Given the description of an element on the screen output the (x, y) to click on. 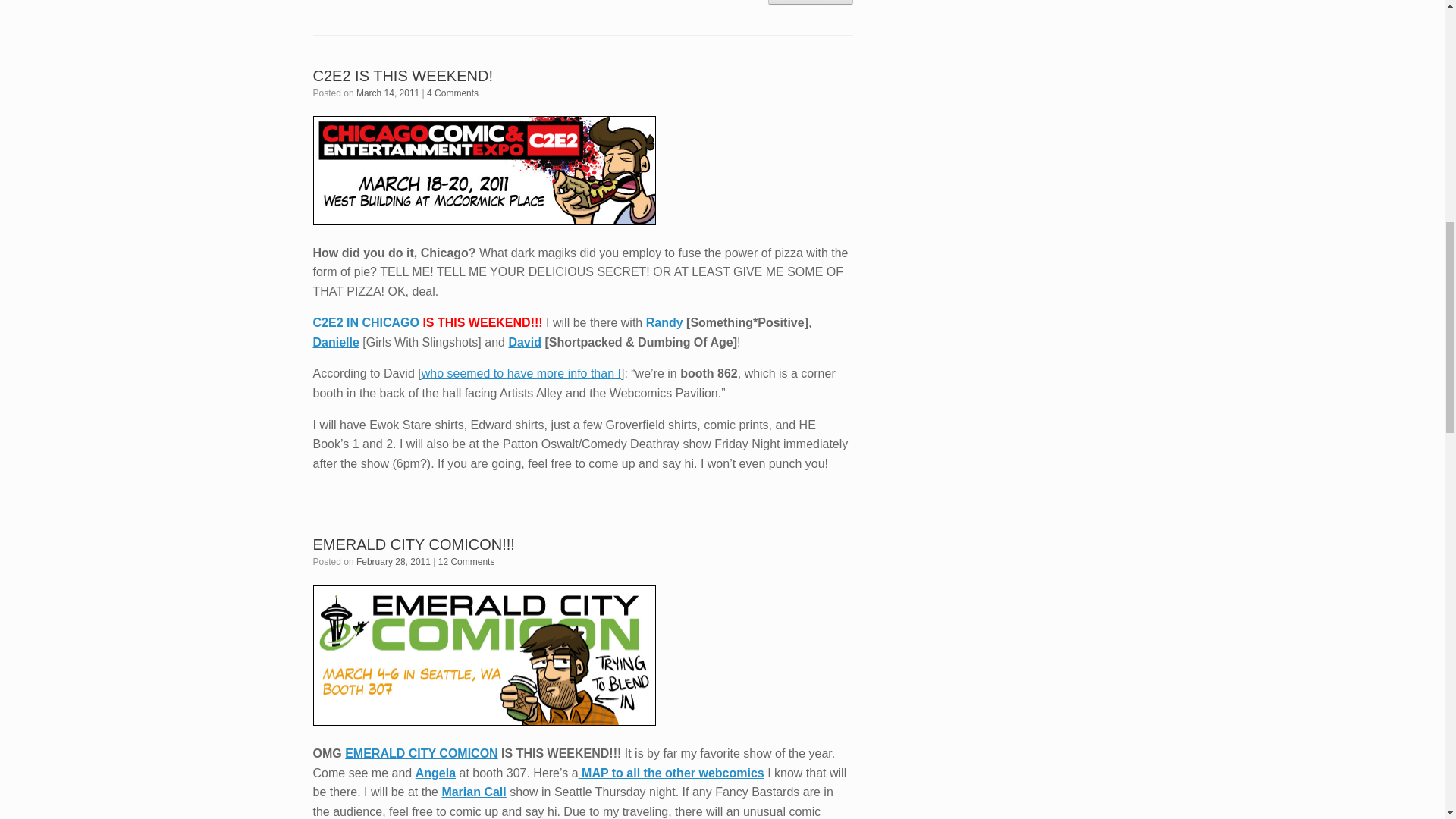
C2E2 IS THIS WEEKEND! (402, 75)
4:30 pm (393, 561)
March 14, 2011 (387, 92)
Permalink to C2E2 IS THIS WEEKEND! (402, 75)
12 Comments (466, 561)
who seemed to have more info than I (521, 373)
2:25 pm (387, 92)
February 28, 2011 (393, 561)
Randy (664, 322)
EMERALD CITY COMICON (421, 753)
